Given the description of an element on the screen output the (x, y) to click on. 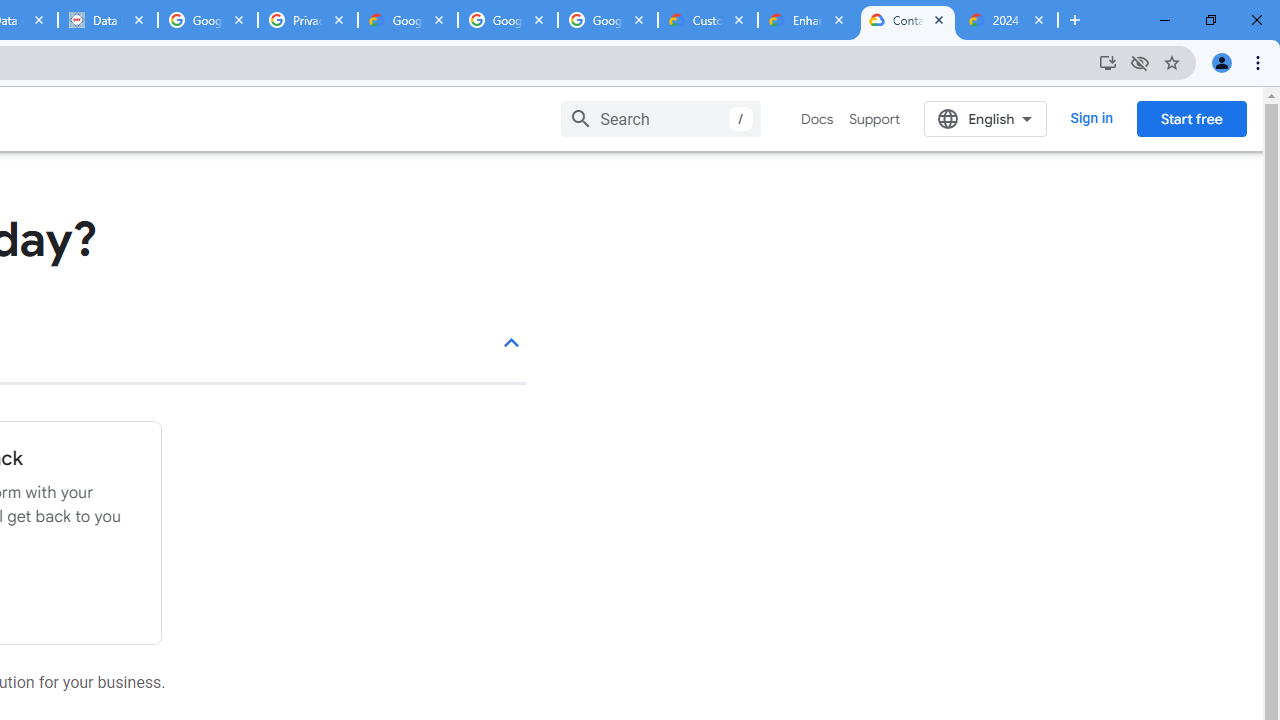
English (985, 118)
Customer Care | Google Cloud (707, 20)
Google Workspace - Specific Terms (508, 20)
Install Google Cloud (1107, 62)
Enhanced Support | Google Cloud (807, 20)
Google Workspace - Specific Terms (607, 20)
